Given the description of an element on the screen output the (x, y) to click on. 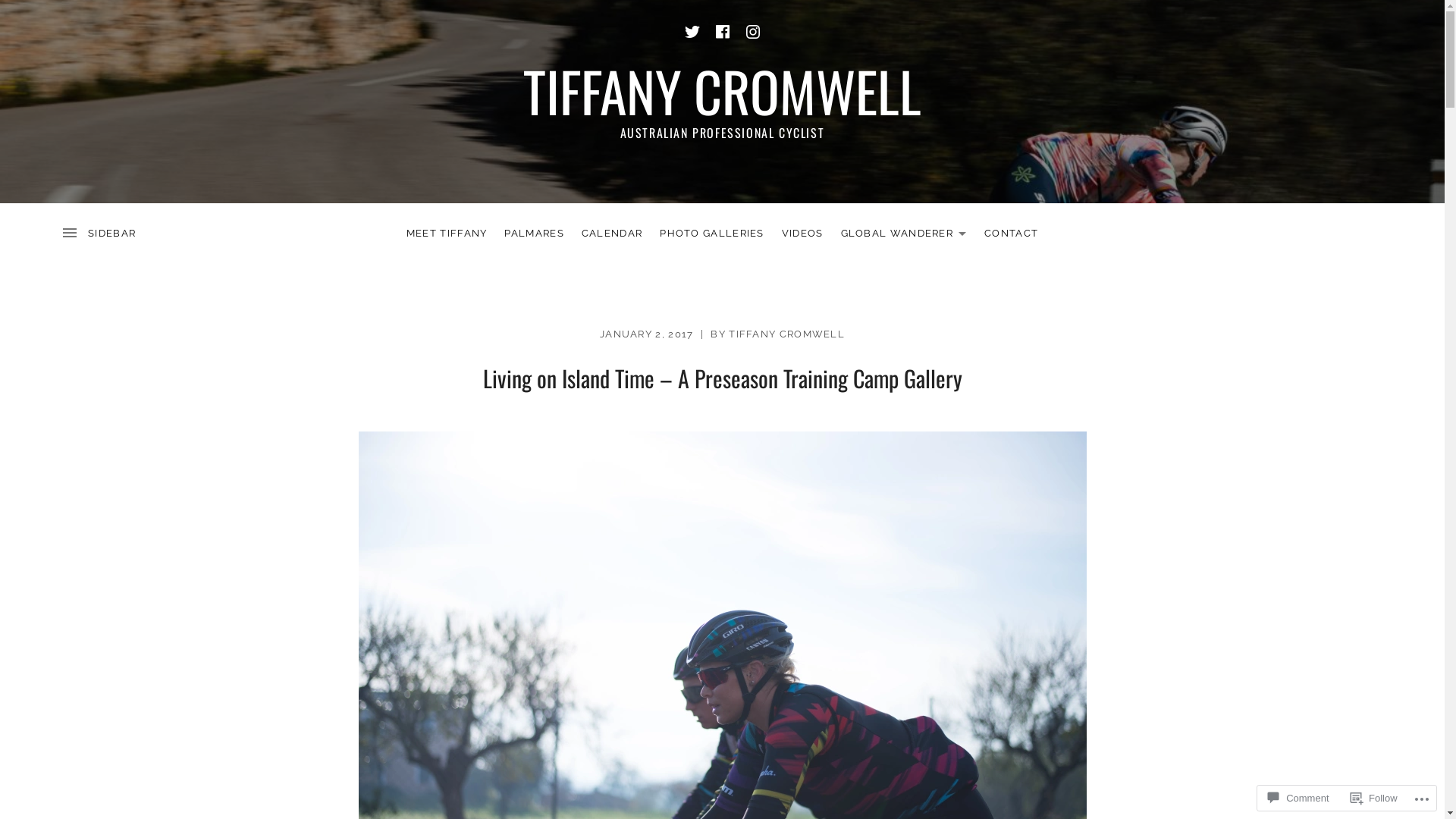
Comment Element type: text (1297, 797)
MEET TIFFANY Element type: text (446, 233)
CONTACT Element type: text (1010, 233)
JANUARY 2, 2017 Element type: text (646, 333)
TIFFANY CROMWELL Element type: text (722, 90)
PHOTO GALLERIES Element type: text (711, 233)
CALENDAR Element type: text (611, 233)
Follow Element type: text (1373, 797)
GLOBAL WANDERER Element type: text (904, 233)
TIFFANY CROMWELL Element type: text (786, 333)
PALMARES Element type: text (533, 233)
VIDEOS Element type: text (802, 233)
